Given the description of an element on the screen output the (x, y) to click on. 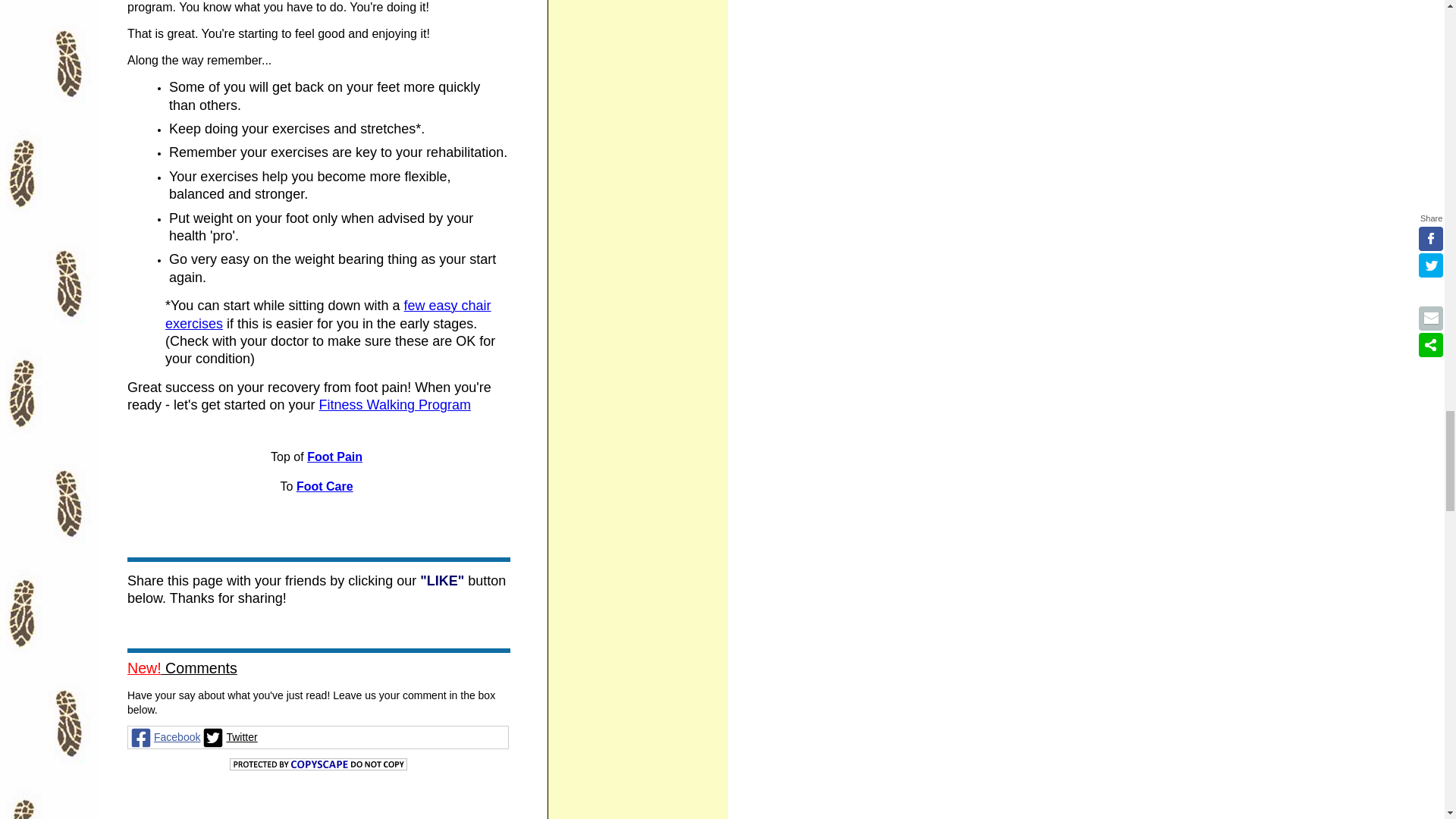
Twitter (228, 737)
Foot Care (325, 486)
Facebook (164, 737)
few easy chair exercises (328, 315)
Foot Pain (334, 457)
Fitness Walking Program (394, 405)
